Given the description of an element on the screen output the (x, y) to click on. 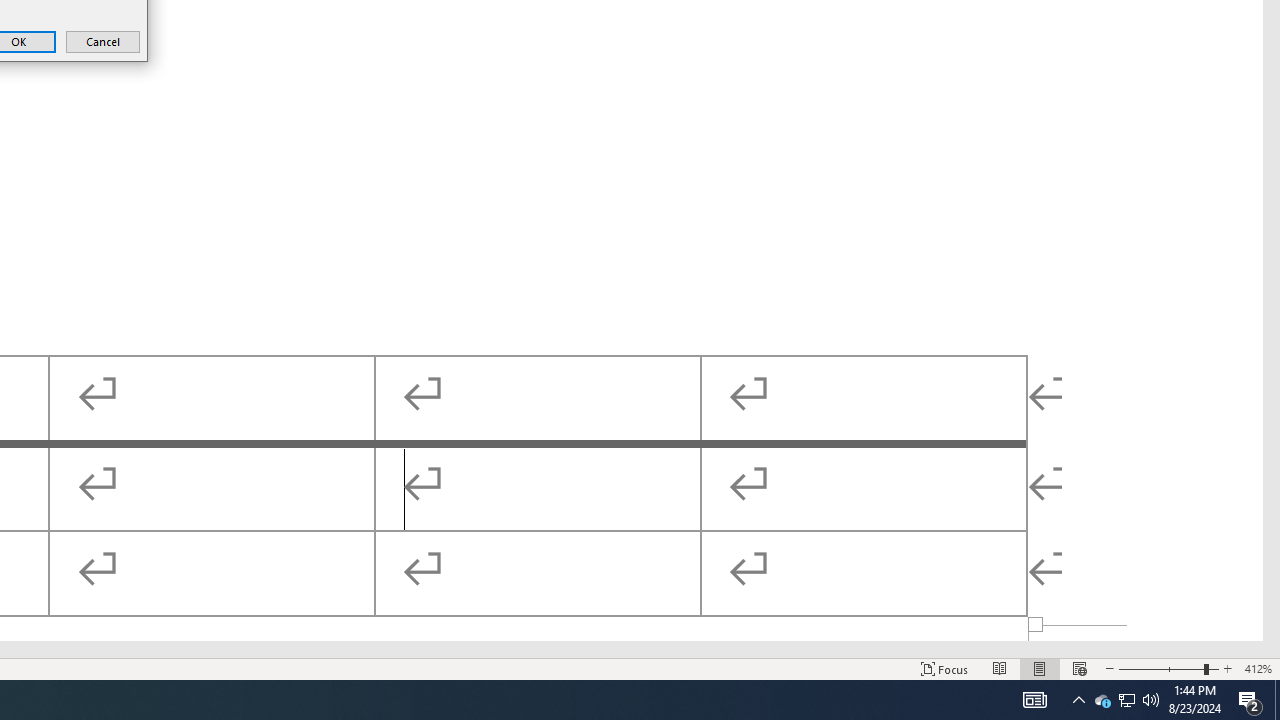
Zoom 412% (1258, 668)
Cancel (102, 42)
